Given the description of an element on the screen output the (x, y) to click on. 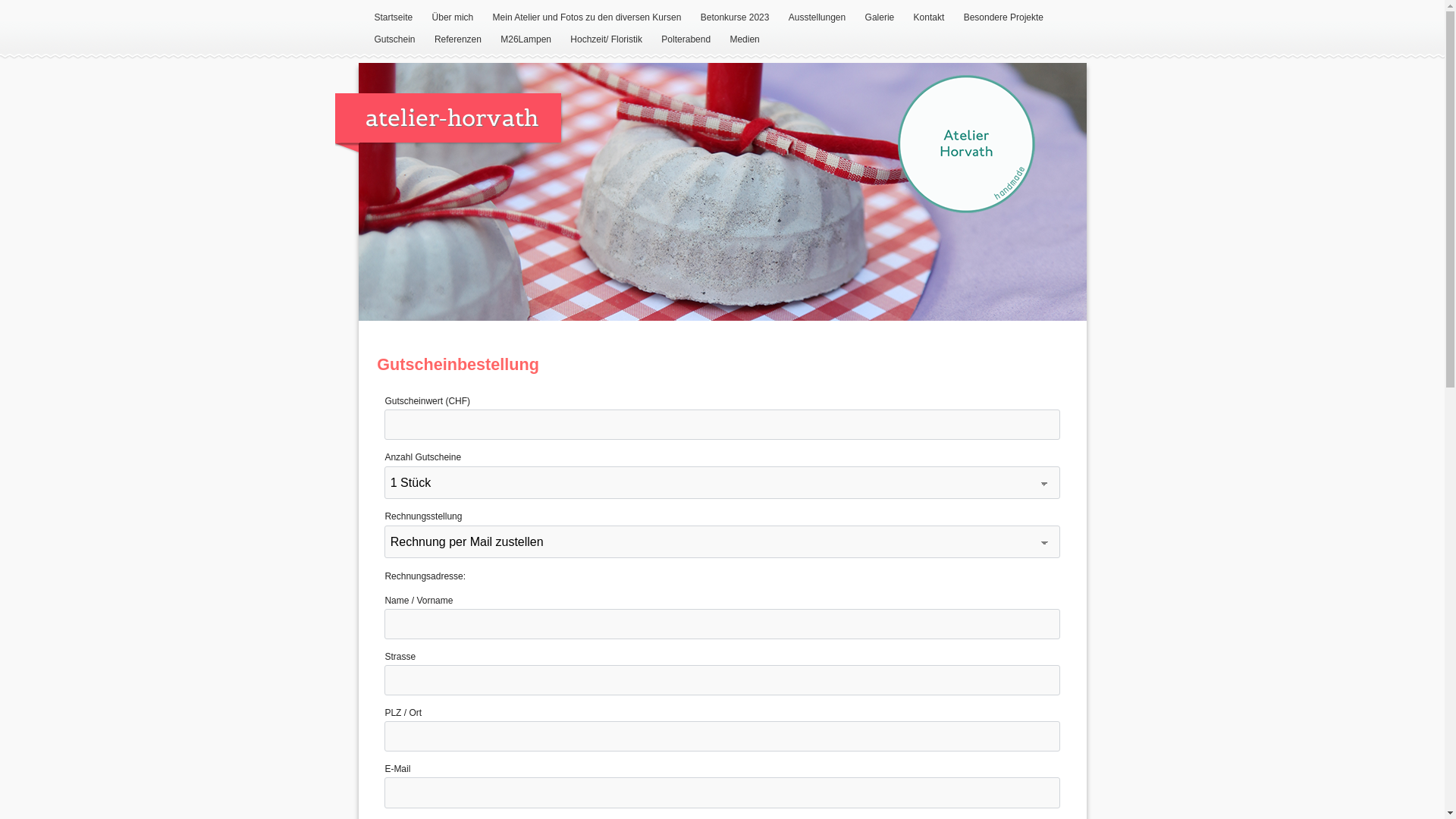
Gutschein Element type: text (394, 40)
M26Lampen Element type: text (525, 40)
atelier-horvath Element type: text (448, 117)
Polterabend Element type: text (685, 40)
Kontakt Element type: text (929, 18)
Hochzeit/ Floristik Element type: text (605, 40)
Referenzen Element type: text (457, 40)
Startseite Element type: text (392, 18)
Galerie Element type: text (879, 18)
Ausstellungen Element type: text (816, 18)
Mein Atelier und Fotos zu den diversen Kursen Element type: text (587, 18)
Medien Element type: text (744, 40)
Betonkurse 2023 Element type: text (735, 18)
Besondere Projekte Element type: text (1003, 18)
